Given the description of an element on the screen output the (x, y) to click on. 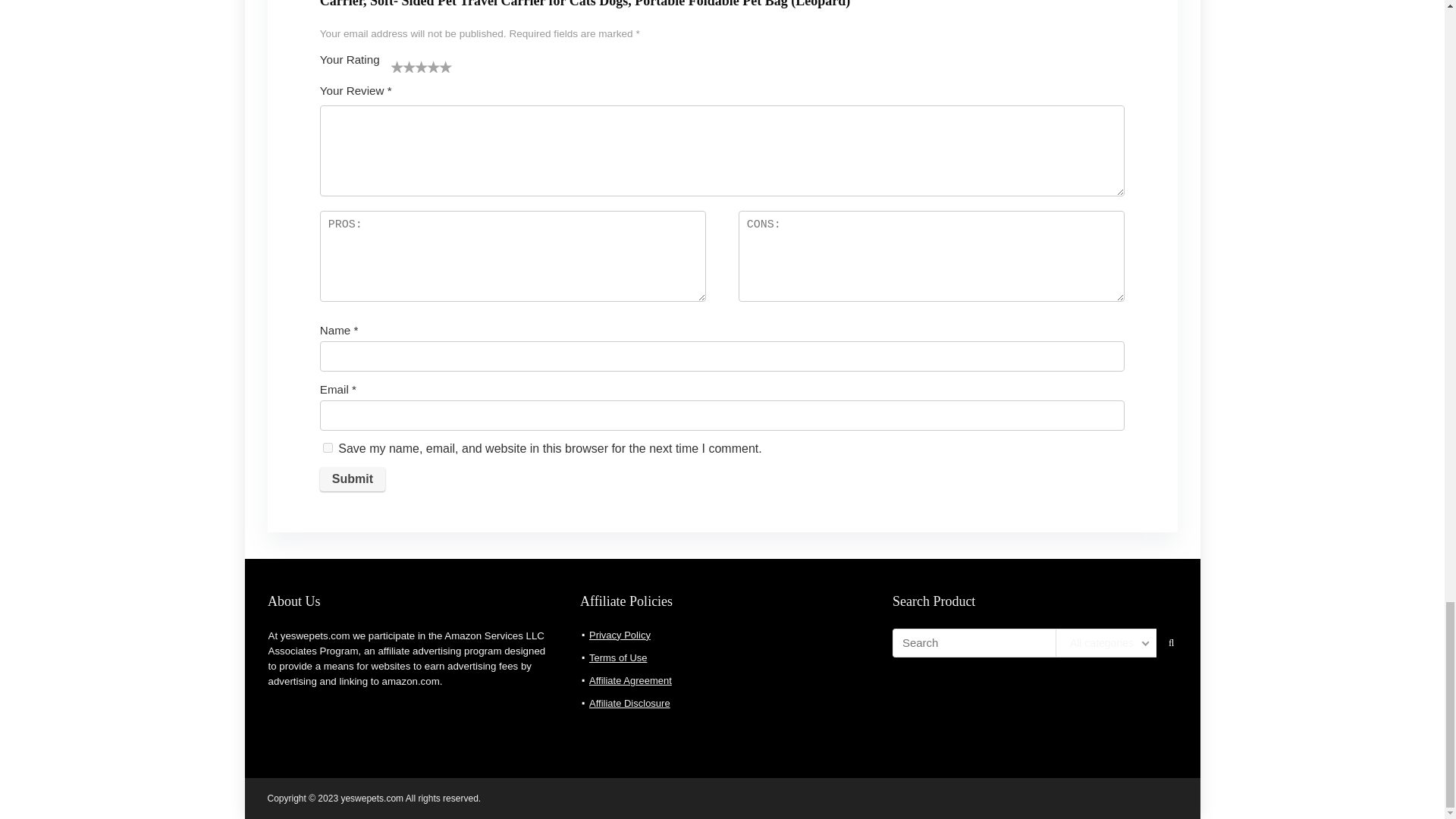
Submit (352, 478)
yes (328, 447)
2 (402, 66)
1 (397, 66)
